Given the description of an element on the screen output the (x, y) to click on. 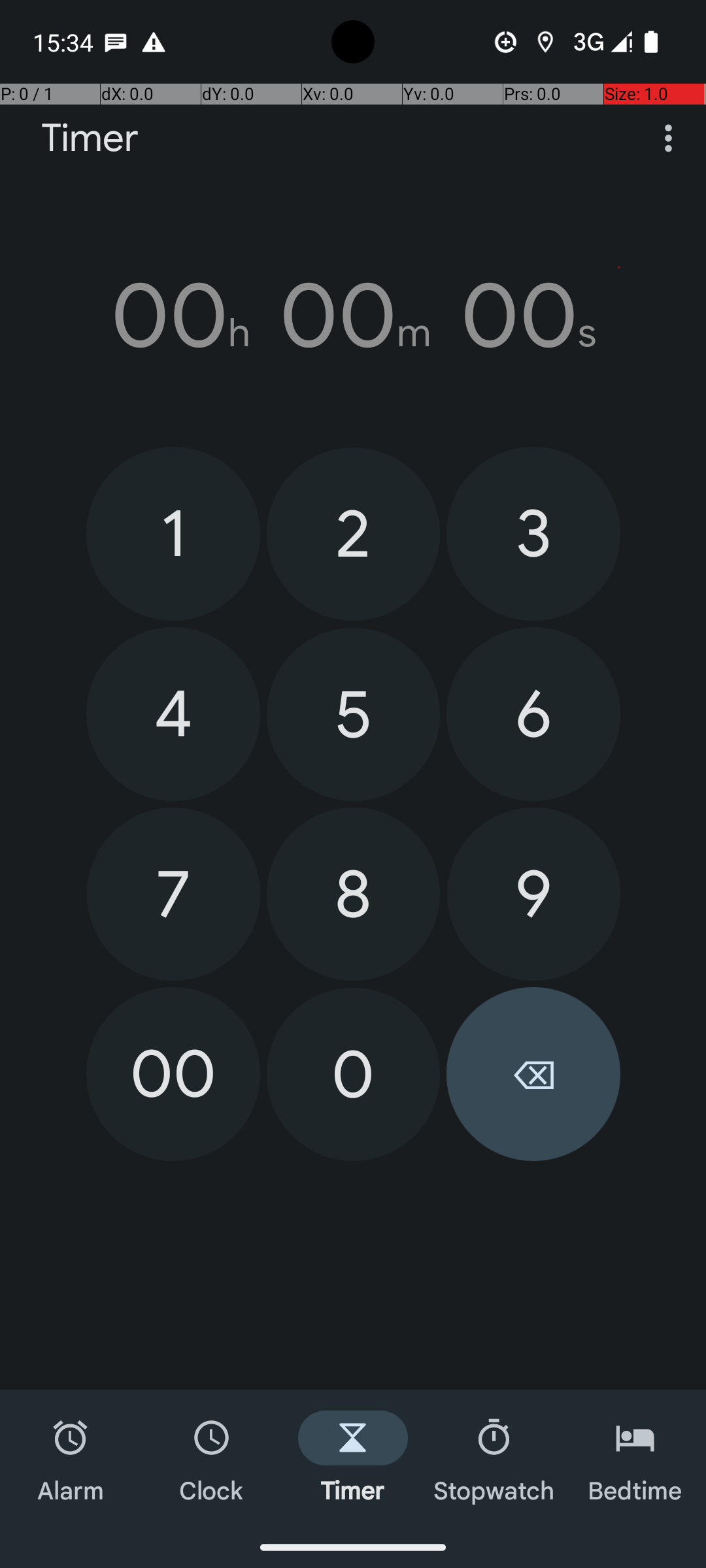
Timer Element type: android.widget.TextView (89, 138)
00h 00m 00s Element type: android.widget.TextView (353, 315)
1 Element type: android.widget.Button (173, 533)
2 Element type: android.widget.Button (352, 533)
3 Element type: android.widget.Button (533, 533)
4 Element type: android.widget.Button (173, 713)
5 Element type: android.widget.Button (352, 713)
6 Element type: android.widget.Button (533, 713)
7 Element type: android.widget.Button (173, 893)
8 Element type: android.widget.Button (352, 893)
9 Element type: android.widget.Button (533, 893)
00 Element type: android.widget.Button (173, 1073)
0 Element type: android.widget.Button (352, 1073)
⌫ Element type: android.widget.Button (533, 1073)
Alarm Element type: android.widget.FrameLayout (70, 1457)
Clock Element type: android.widget.FrameLayout (211, 1457)
Stopwatch Element type: android.widget.FrameLayout (493, 1457)
Bedtime Element type: android.widget.FrameLayout (635, 1457)
Data Saver is on Element type: android.widget.ImageView (505, 41)
